Given the description of an element on the screen output the (x, y) to click on. 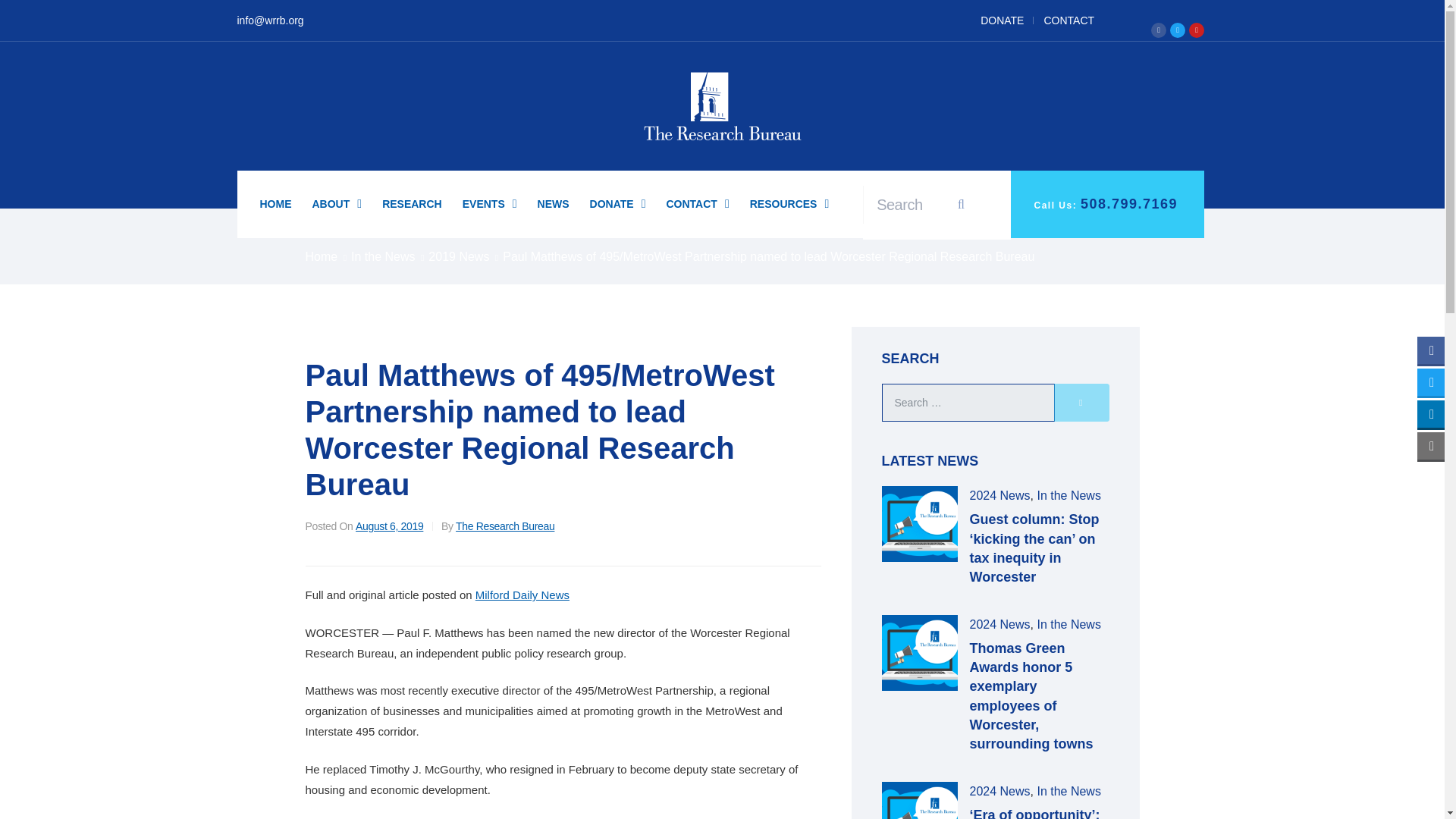
CONTACT (1068, 20)
RESOURCES (789, 203)
CONTACT (697, 203)
DONATE (1002, 20)
the-research-bureau-branding-ko (721, 106)
Events (489, 203)
About Us (337, 203)
DONATE (617, 203)
RESEARCH (411, 203)
EVENTS (489, 203)
ABOUT (337, 203)
NEWS (553, 203)
HOME (275, 203)
